Given the description of an element on the screen output the (x, y) to click on. 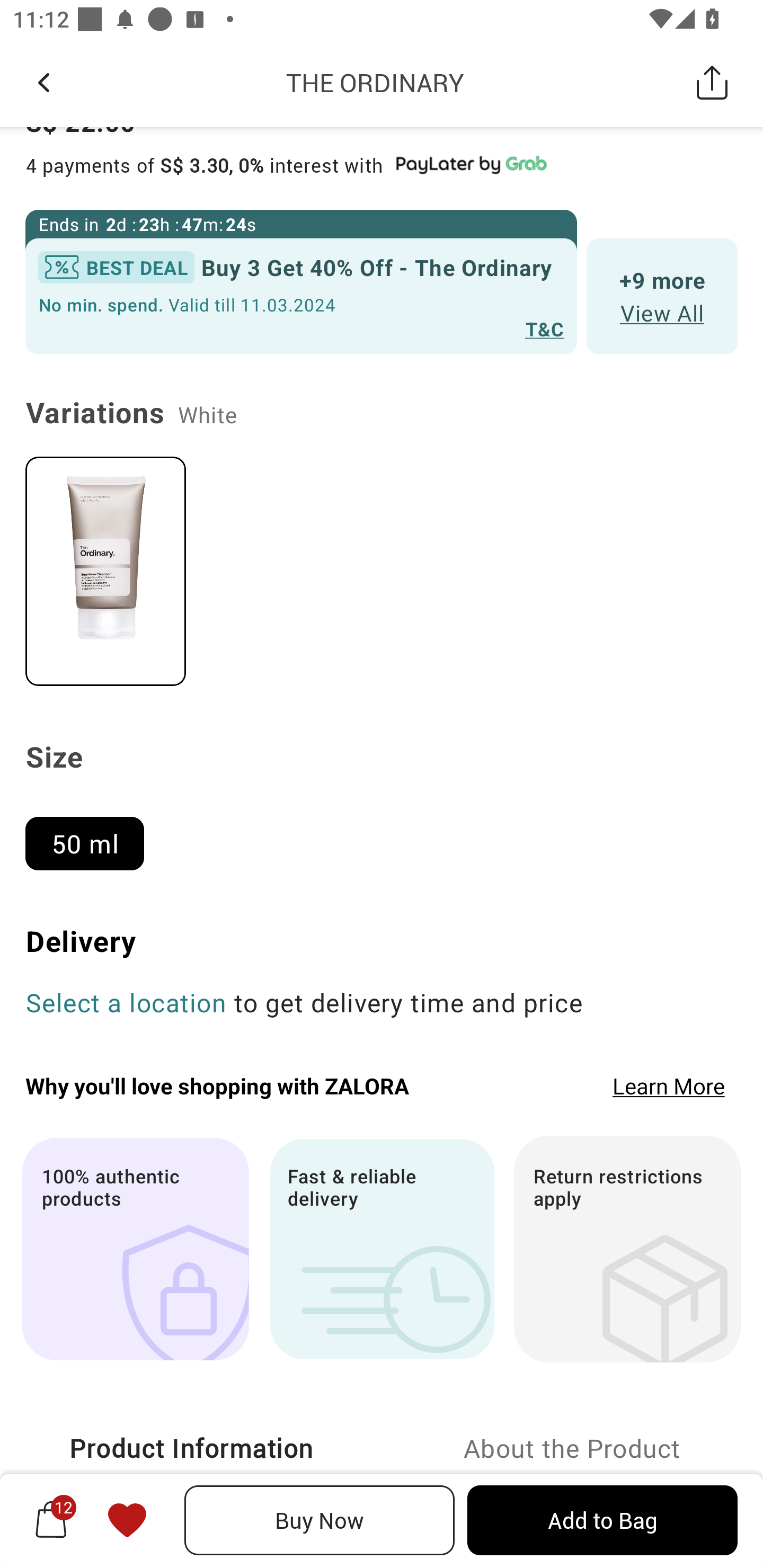
THE ORDINARY (375, 82)
Share this Product (711, 82)
+9 more
View All (661, 296)
T&C (544, 328)
50 ml (92, 835)
Learn More (668, 1085)
100% authentic products (135, 1248)
Fast & reliable delivery (381, 1248)
Return restrictions apply (627, 1248)
About the Product (572, 1447)
Buy Now (319, 1519)
Add to Bag (601, 1519)
12 (50, 1520)
